Given the description of an element on the screen output the (x, y) to click on. 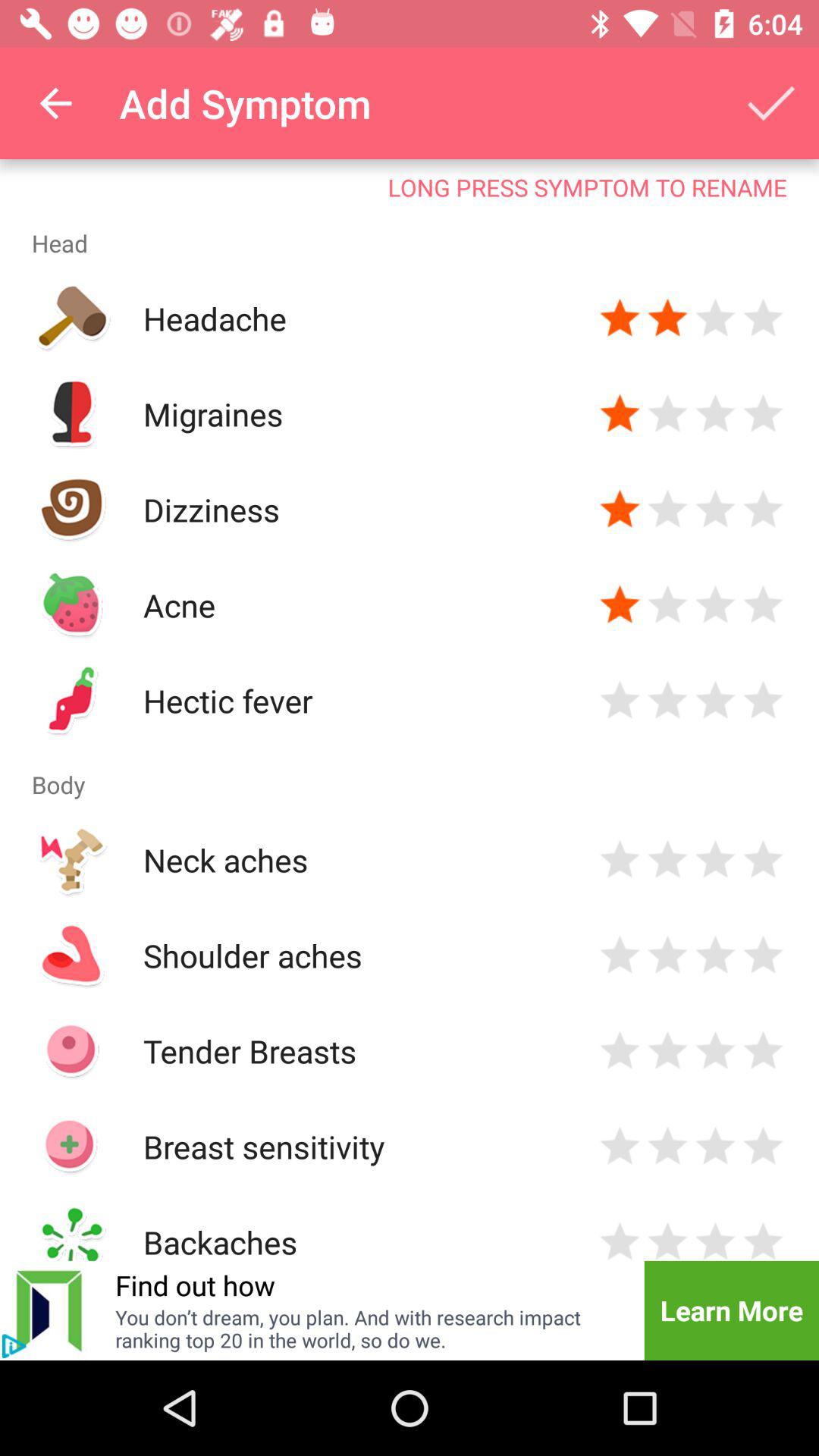
click icon next to add symptom item (55, 103)
